Given the description of an element on the screen output the (x, y) to click on. 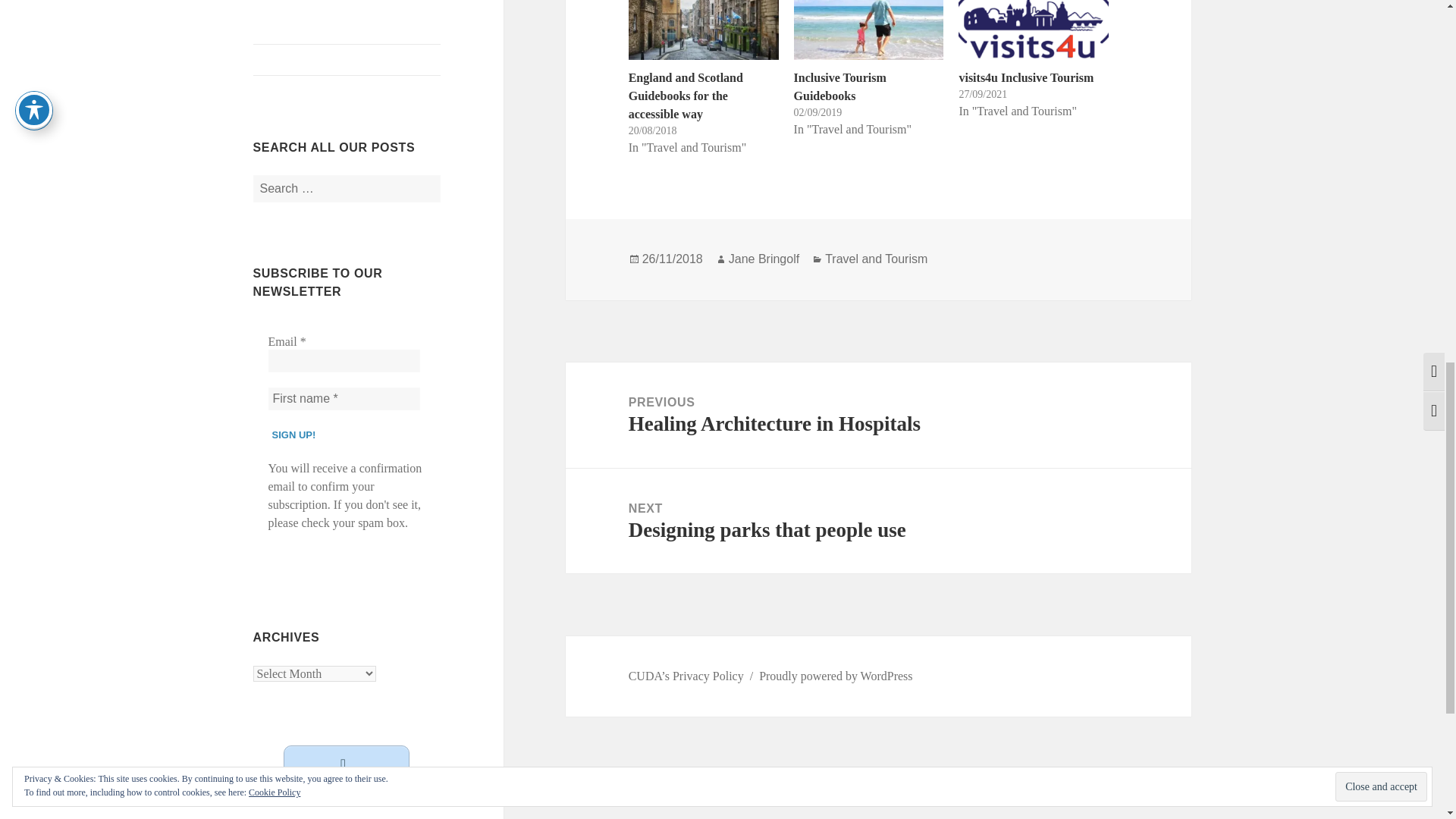
England and Scotland Guidebooks for the accessible way (685, 95)
visits4u Inclusive Tourism (1033, 29)
Inclusive Tourism Guidebooks (868, 29)
visits4u Inclusive Tourism (1025, 77)
Sign up! (293, 434)
Inclusive Tourism Guidebooks (839, 86)
England and Scotland Guidebooks for the accessible way (703, 29)
